Given the description of an element on the screen output the (x, y) to click on. 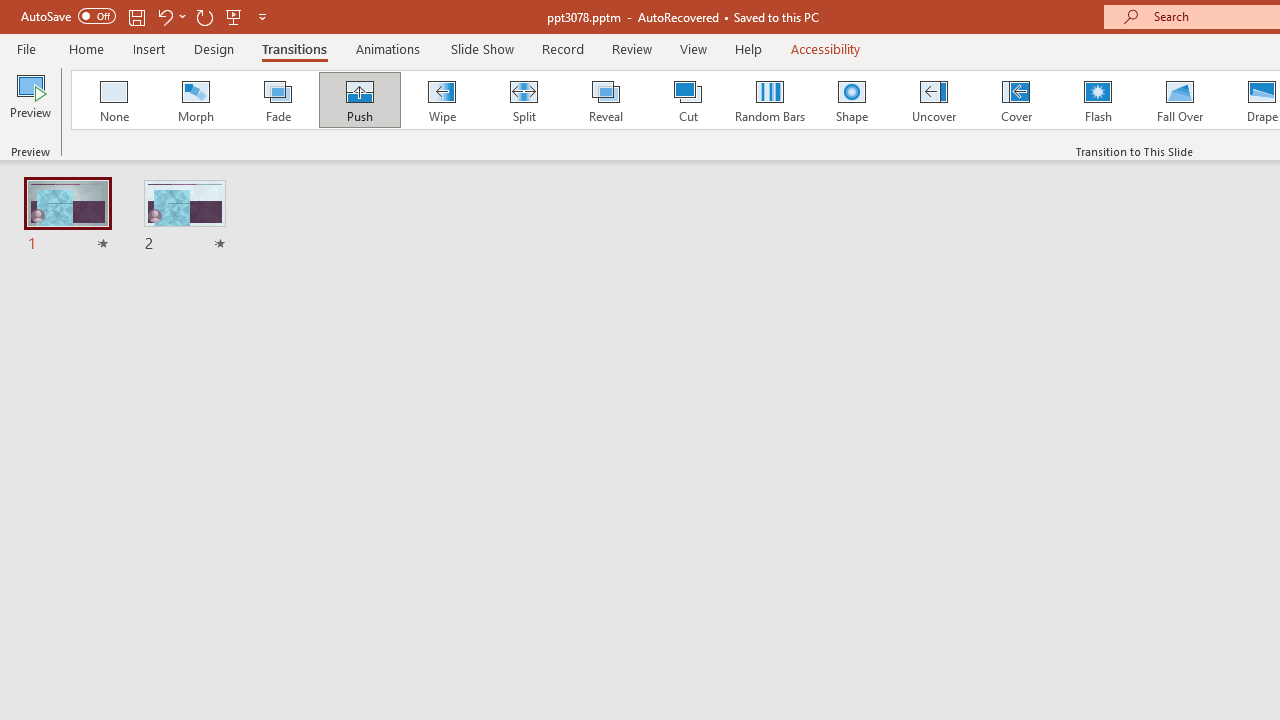
Push (359, 100)
Fade (277, 100)
None (113, 100)
Cut (687, 100)
Cover (1016, 100)
Morph (195, 100)
